Given the description of an element on the screen output the (x, y) to click on. 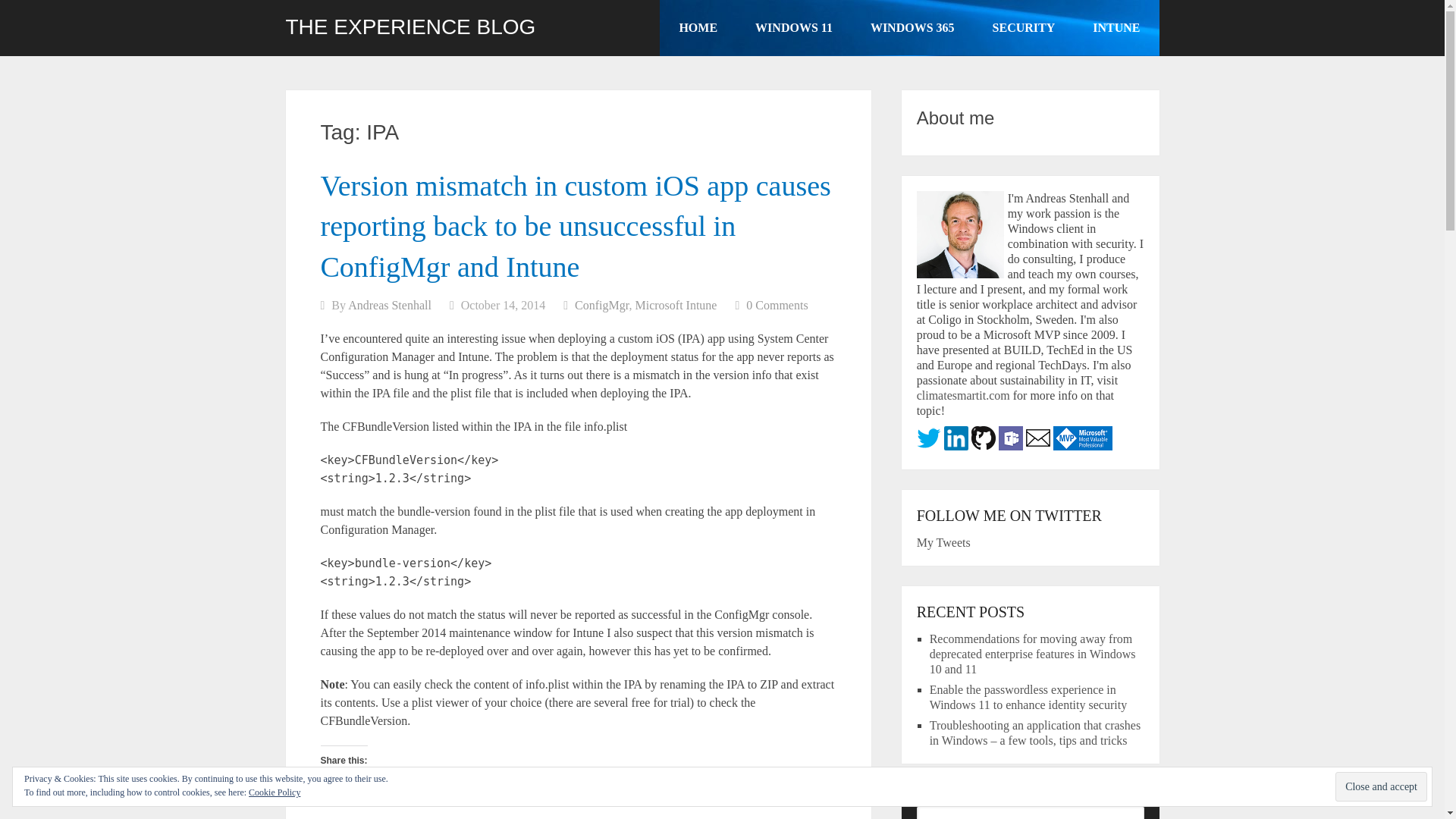
WINDOWS 365 (912, 28)
0 Comments (776, 305)
INTUNE (1116, 28)
My Tweets (944, 542)
Click to share on Facebook (358, 785)
HOME (697, 28)
Microsoft Intune (675, 305)
Click to share on Twitter (434, 785)
Email (577, 785)
climatesmartit.com (963, 395)
Andreas Stenhall (388, 305)
Click to share on LinkedIn (506, 785)
ConfigMgr (601, 305)
SECURITY (1024, 28)
